Given the description of an element on the screen output the (x, y) to click on. 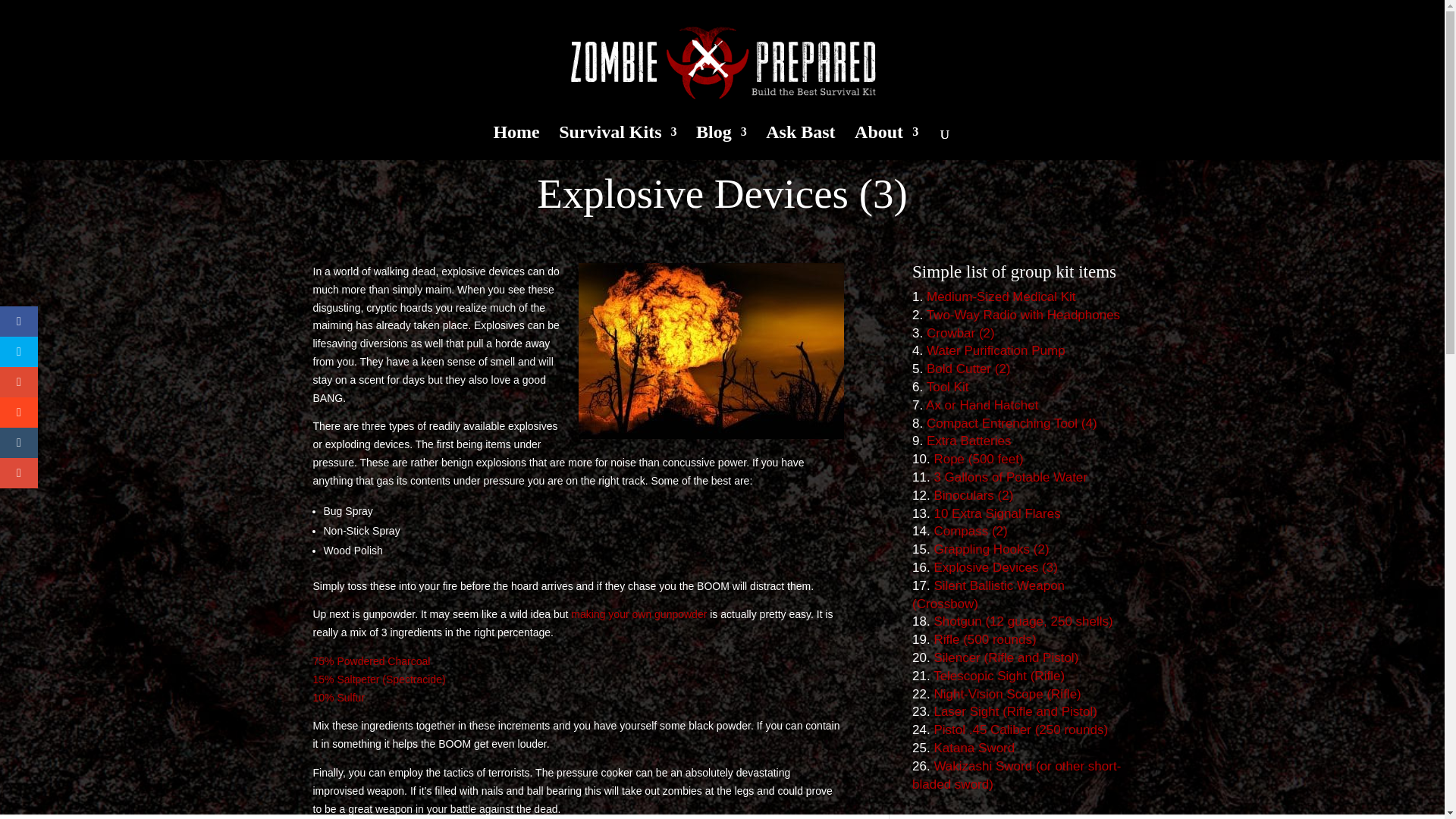
Tool Kit (947, 386)
making your own gunpowder (638, 613)
Blog (720, 142)
Water Purification Pump (995, 350)
Ask Bast (799, 142)
About (886, 142)
Survival Kits (618, 142)
Extra Batteries (968, 440)
Ax or Hand Hatchet (982, 405)
Home (515, 142)
